Given the description of an element on the screen output the (x, y) to click on. 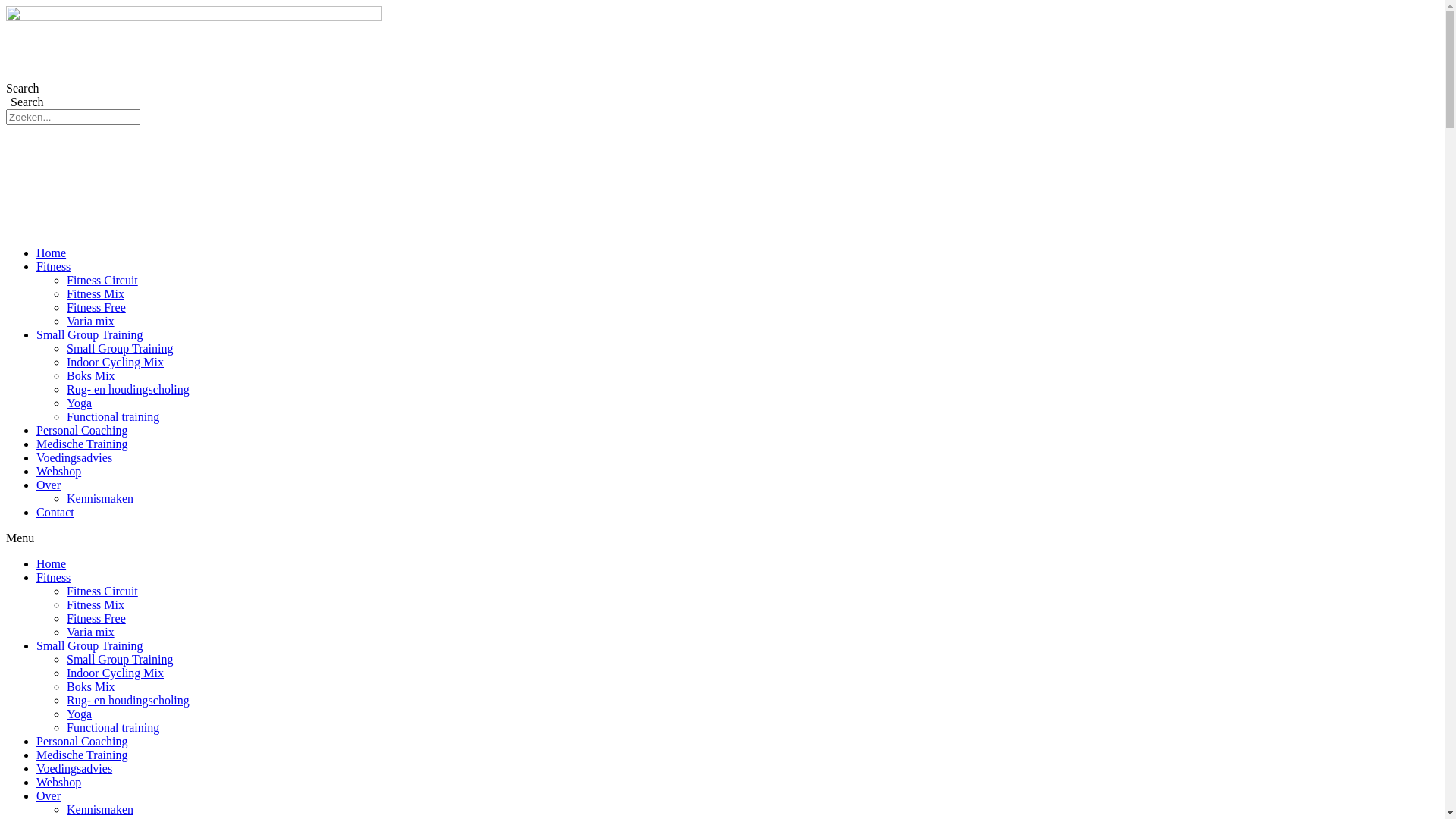
Fitness Mix Element type: text (95, 604)
Functional training Element type: text (112, 416)
Medische Training Element type: text (81, 754)
Fitness Circuit Element type: text (102, 590)
Yoga Element type: text (78, 402)
Fitness Circuit Element type: text (102, 279)
Functional training Element type: text (112, 727)
Over Element type: text (48, 795)
Varia mix Element type: text (90, 631)
Fitness Free Element type: text (95, 617)
Small Group Training Element type: text (119, 348)
Kennismaken Element type: text (99, 498)
Indoor Cycling Mix Element type: text (114, 361)
Boks Mix Element type: text (90, 686)
Ga naar de inhoud Element type: text (5, 5)
Yoga Element type: text (78, 713)
Rug- en houdingscholing Element type: text (127, 388)
Home Element type: text (50, 563)
Indoor Cycling Mix Element type: text (114, 672)
Contact Element type: text (55, 511)
Small Group Training Element type: text (119, 658)
Home Element type: text (50, 252)
Rug- en houdingscholing Element type: text (127, 699)
Fitness Element type: text (53, 577)
Small Group Training Element type: text (89, 334)
Personal Coaching Element type: text (81, 740)
Fitness Free Element type: text (95, 307)
Boks Mix Element type: text (90, 375)
Personal Coaching Element type: text (81, 429)
Over Element type: text (48, 484)
Small Group Training Element type: text (89, 645)
Medische Training Element type: text (81, 443)
Varia mix Element type: text (90, 320)
Fitness Mix Element type: text (95, 293)
Fitness Element type: text (53, 266)
Webshop Element type: text (58, 470)
Voedingsadvies Element type: text (74, 768)
Kennismaken Element type: text (99, 809)
Voedingsadvies Element type: text (74, 457)
Webshop Element type: text (58, 781)
